Given the description of an element on the screen output the (x, y) to click on. 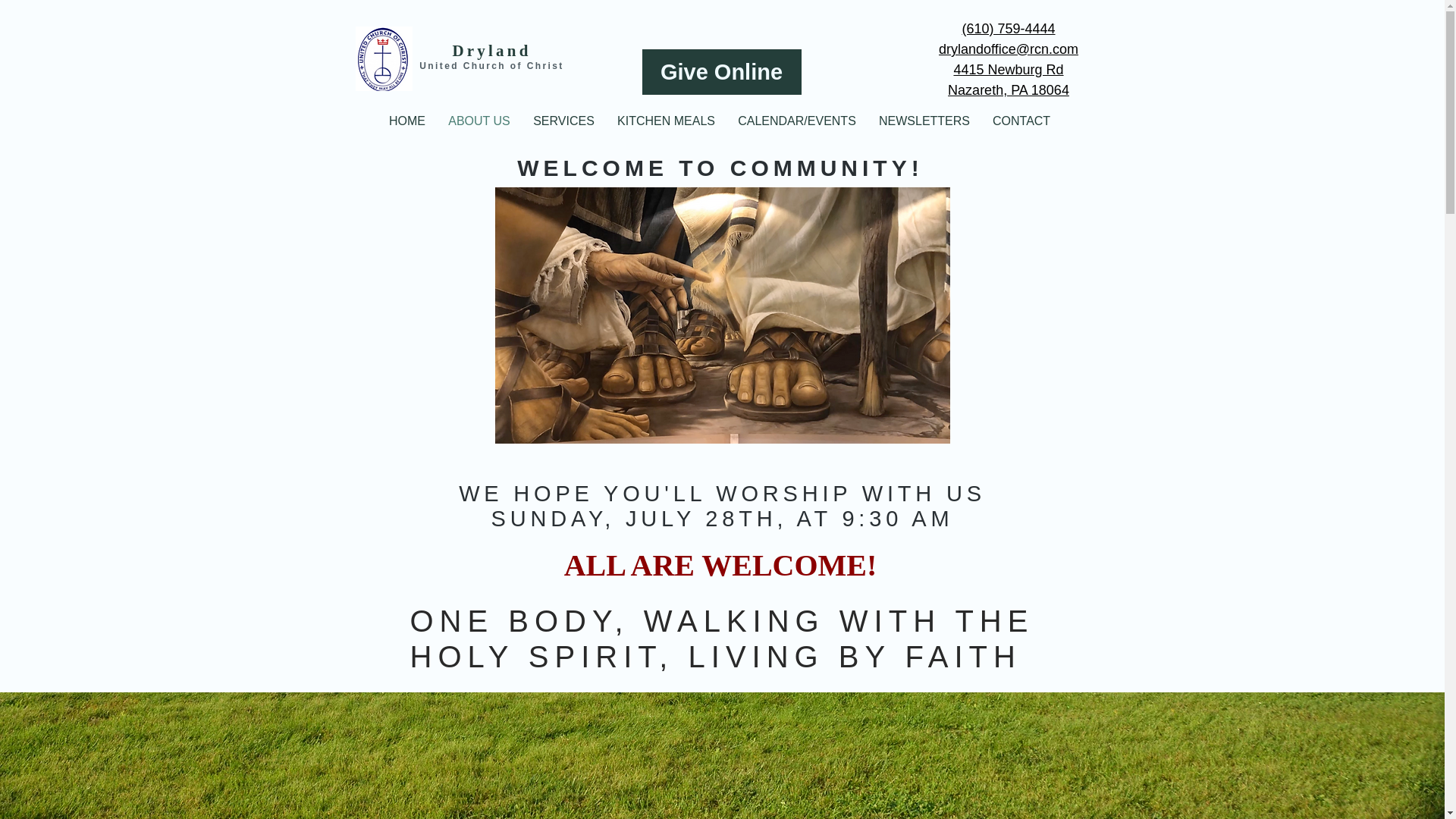
ABOUT US (478, 121)
Give Online (721, 72)
KITCHEN MEALS (665, 121)
NEWSLETTERS (924, 121)
CONTACT (1021, 121)
HOME (406, 121)
SERVICES (563, 121)
Dryland (491, 50)
